Given the description of an element on the screen output the (x, y) to click on. 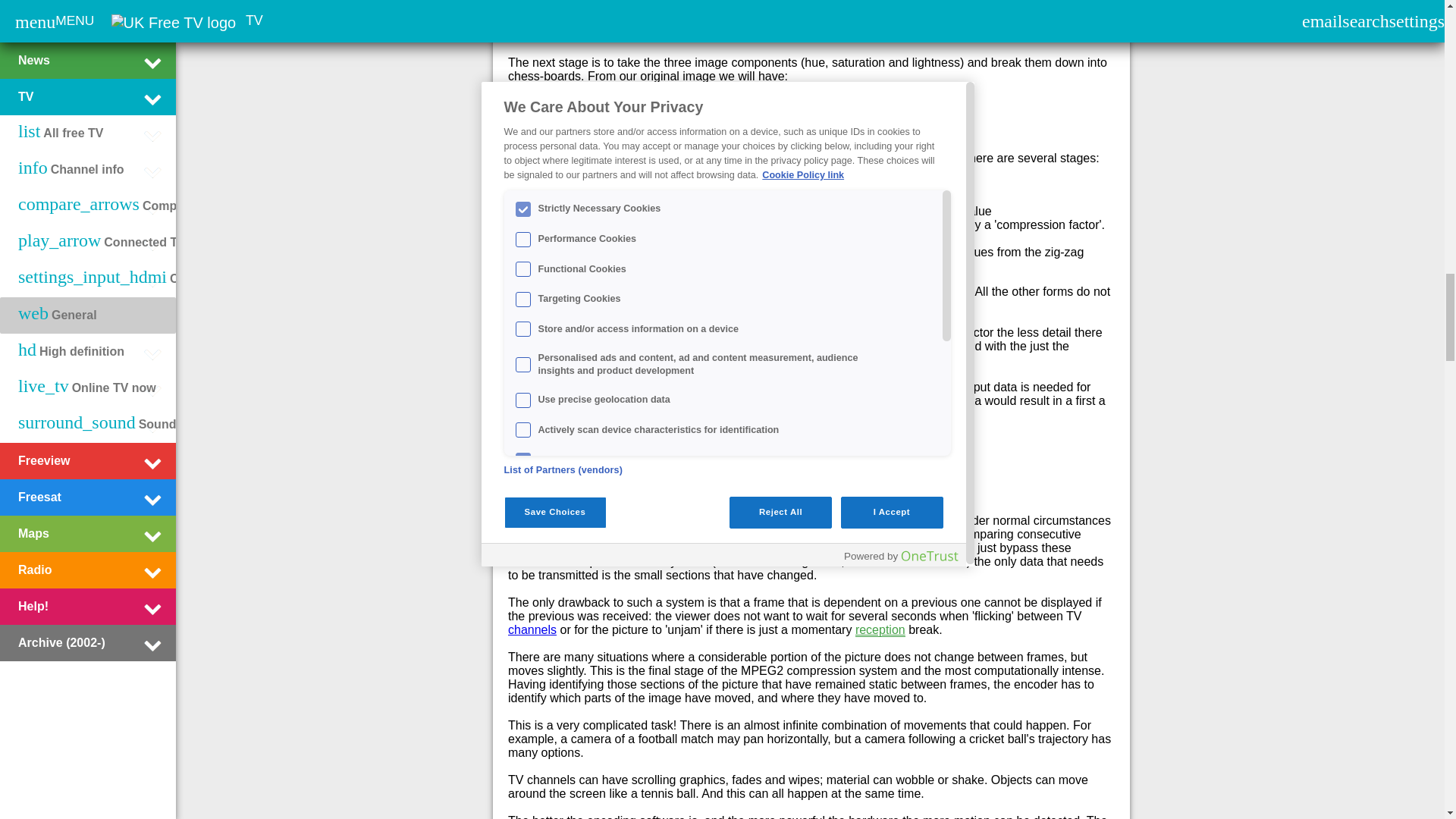
CLICK TO READ  All free-to-watch channels (532, 629)
